Given the description of an element on the screen output the (x, y) to click on. 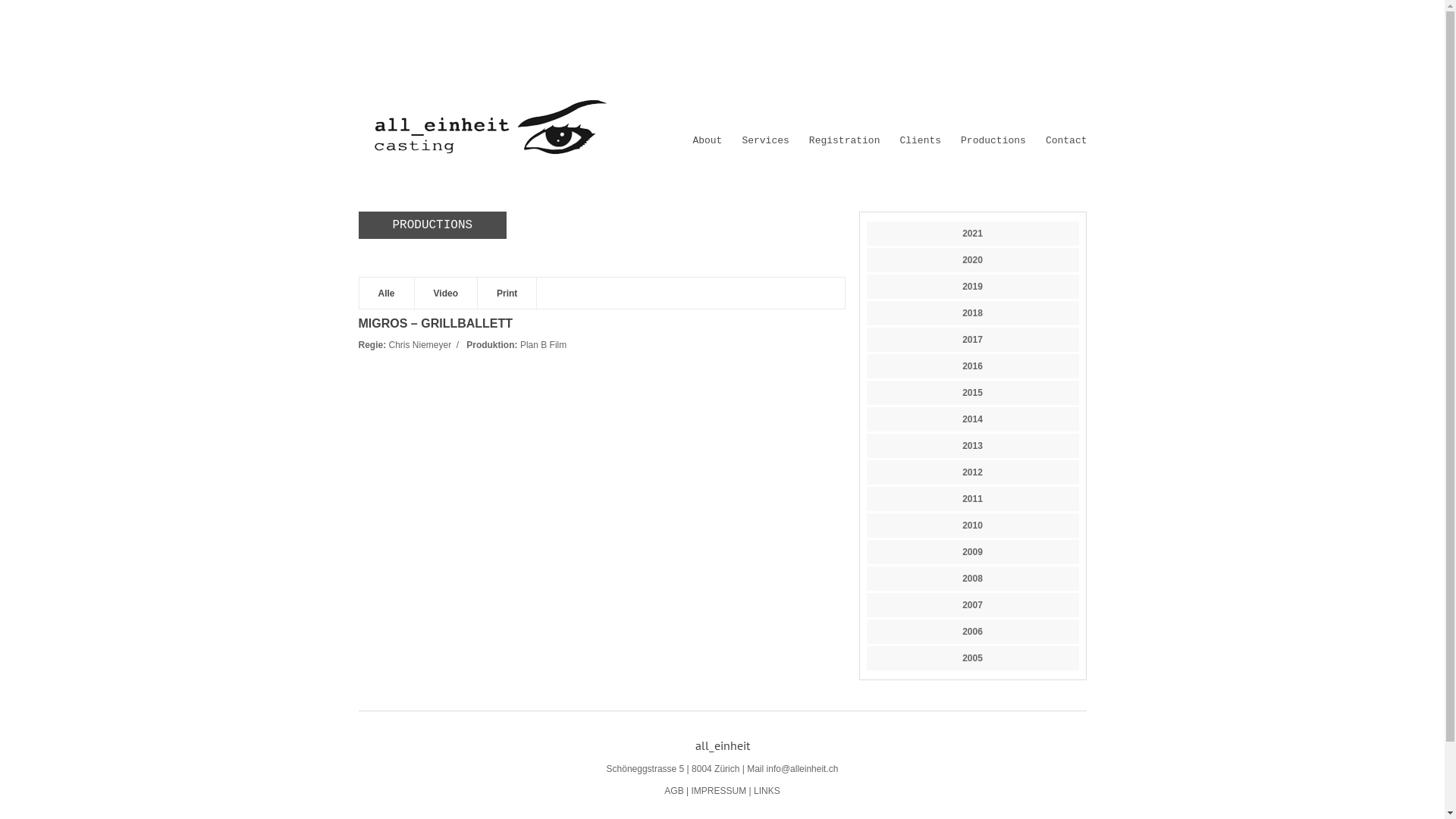
2018 Element type: text (972, 312)
Registration Element type: text (844, 140)
AGB Element type: text (673, 790)
2018 Element type: text (972, 313)
2013 Element type: text (972, 445)
2012 Element type: text (972, 472)
Contact Element type: text (1066, 140)
2008 Element type: text (972, 578)
2011 Element type: text (972, 498)
Services Element type: text (764, 140)
Productions Element type: text (992, 140)
2020 Element type: text (972, 259)
About Element type: text (706, 140)
LINKS Element type: text (766, 790)
2017 Element type: text (972, 339)
2005 Element type: text (972, 658)
2016 Element type: text (972, 366)
2021 Element type: text (972, 233)
2020 Element type: text (972, 259)
2009 Element type: text (972, 551)
2013 Element type: text (972, 445)
2014 Element type: text (972, 419)
2006 Element type: text (972, 631)
IMPRESSUM Element type: text (718, 790)
2007 Element type: text (972, 604)
2019 Element type: text (972, 286)
2011 Element type: text (972, 498)
2015 Element type: text (972, 392)
2019 Element type: text (972, 286)
2021 Element type: text (972, 233)
2016 Element type: text (972, 365)
Alle Element type: text (386, 293)
2012 Element type: text (972, 472)
2014 Element type: text (972, 419)
2010 Element type: text (972, 525)
2017 Element type: text (972, 339)
2006 Element type: text (972, 631)
Print Element type: text (506, 293)
2009 Element type: text (972, 551)
2015 Element type: text (972, 392)
2007 Element type: text (972, 605)
2005 Element type: text (972, 657)
2008 Element type: text (972, 578)
Clients Element type: text (919, 140)
2010 Element type: text (972, 525)
Video Element type: text (445, 293)
